Given the description of an element on the screen output the (x, y) to click on. 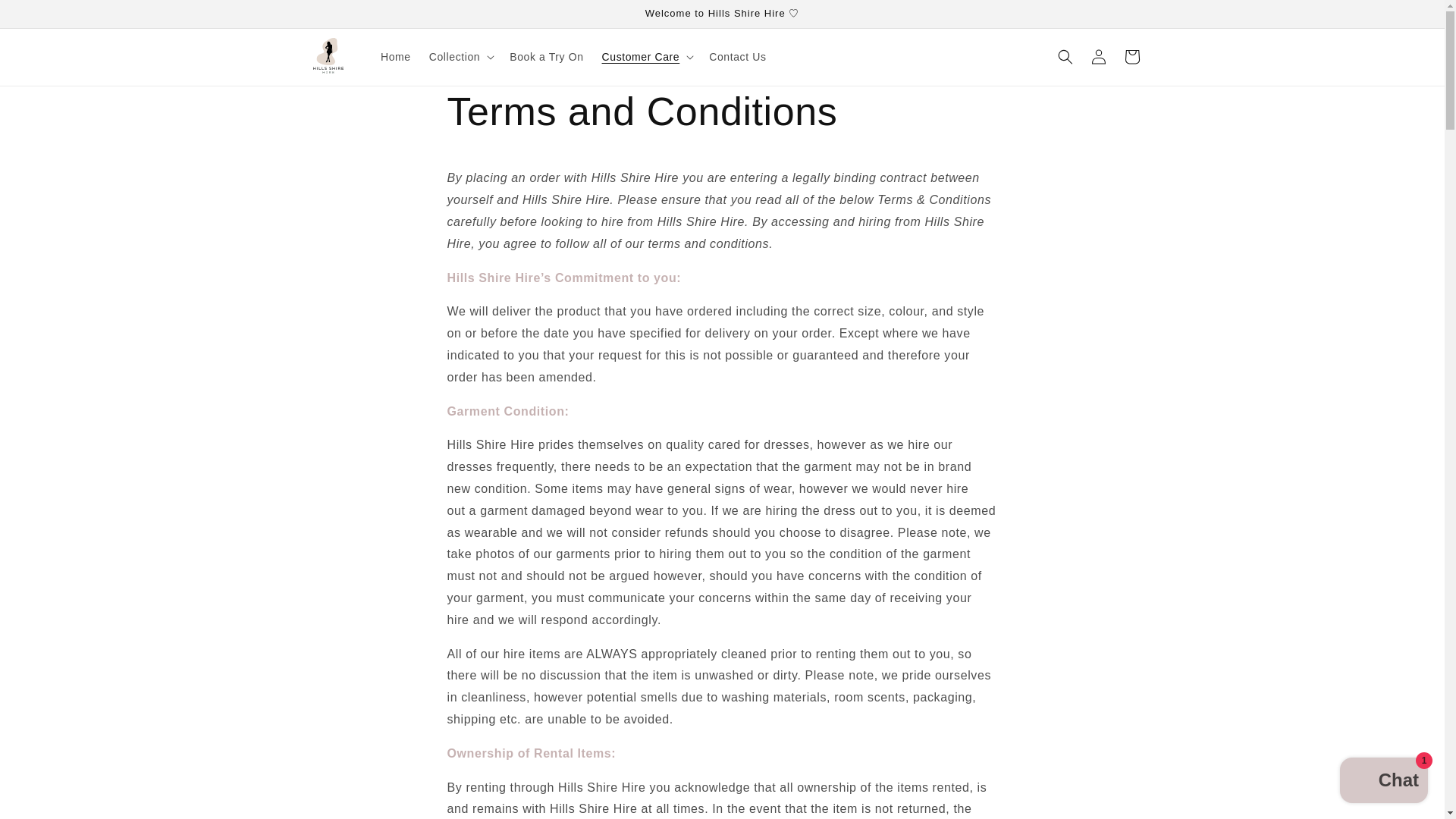
Cart (1131, 56)
Log in (1098, 56)
Contact Us (737, 56)
Home (395, 56)
Skip to content (45, 17)
Shopify online store chat (1383, 781)
Book a Try On (546, 56)
